Given the description of an element on the screen output the (x, y) to click on. 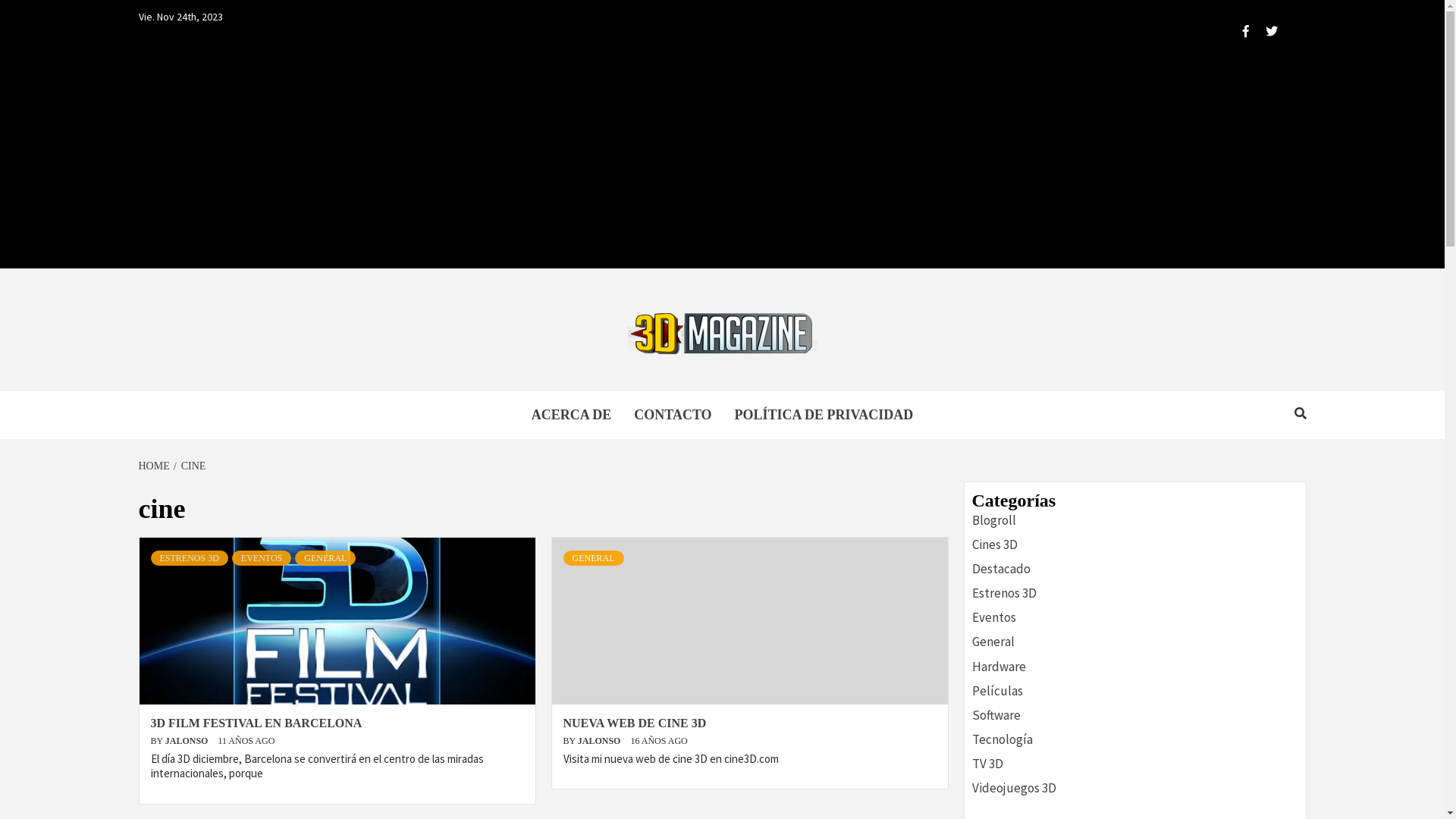
CONTACTO Element type: text (672, 415)
Blogroll Element type: text (994, 519)
3DMAGAZINE.COM Element type: text (503, 408)
TV 3D Element type: text (987, 763)
Facebook Element type: text (1235, 31)
Videojuegos 3D Element type: text (1014, 787)
Hardware Element type: text (999, 666)
JALONSO Element type: text (600, 740)
Destacado Element type: text (1001, 568)
EVENTOS Element type: text (261, 557)
Eventos Element type: text (994, 616)
Software Element type: text (996, 714)
Cines 3D Element type: text (994, 544)
General Element type: text (993, 641)
NUEVA WEB DE CINE 3D Element type: text (634, 722)
JALONSO Element type: text (187, 740)
CINE Element type: text (191, 465)
GENERAL Element type: text (324, 557)
Estrenos 3D Element type: text (1004, 592)
Twitter Element type: text (1264, 31)
ESTRENOS 3D Element type: text (188, 557)
3D FILM FESTIVAL EN BARCELONA Element type: text (255, 722)
GENERAL Element type: text (592, 557)
HOME Element type: text (155, 465)
Advertisement Element type: hover (721, 162)
ACERCA DE Element type: text (571, 415)
